Given the description of an element on the screen output the (x, y) to click on. 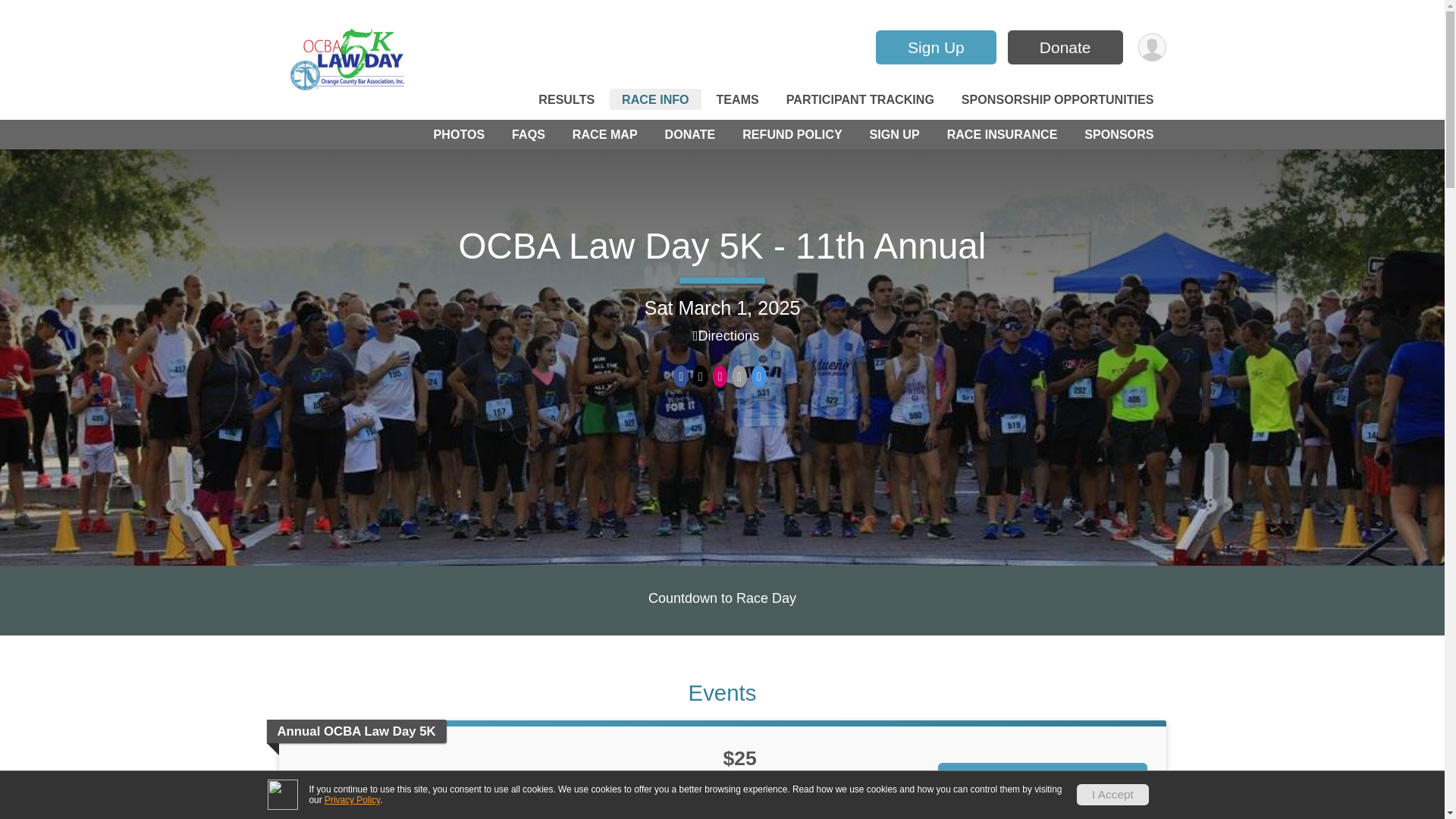
REFUND POLICY (791, 134)
DONATE (690, 134)
Sign Up (935, 47)
PARTICIPANT TRACKING (860, 98)
SIGN UP (894, 134)
RACE INFO (655, 98)
SPONSORSHIP OPPORTUNITIES (1057, 98)
RACE MAP (604, 134)
FAQS (528, 134)
TEAMS (736, 98)
